Given the description of an element on the screen output the (x, y) to click on. 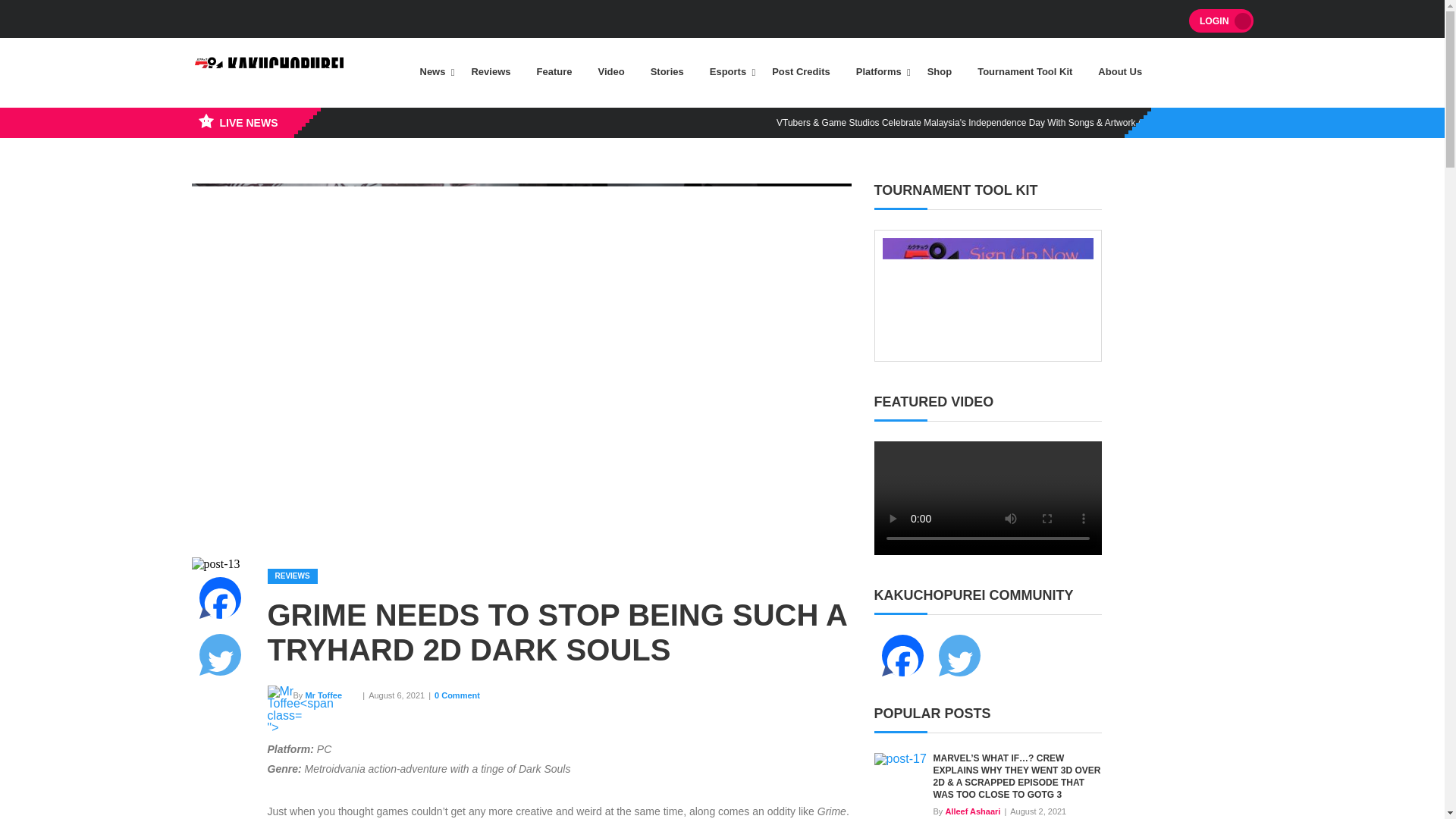
Facebook (901, 655)
Feature (554, 71)
Post Credits (800, 71)
Esports (727, 71)
Twitter (219, 654)
Twitter (959, 655)
Facebook (219, 598)
Platforms (878, 71)
Reviews (490, 71)
